Given the description of an element on the screen output the (x, y) to click on. 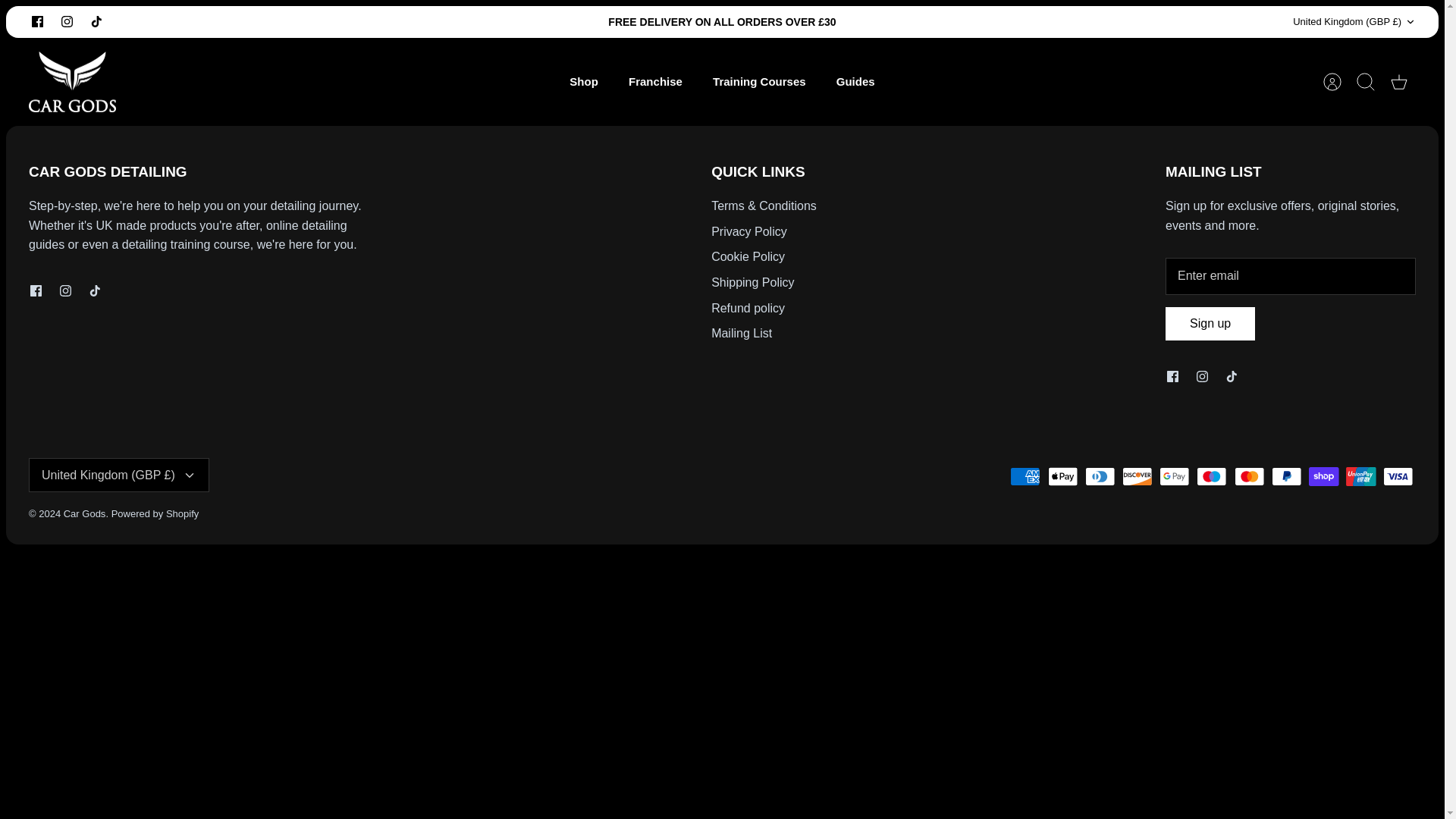
Mastercard (1249, 476)
American Express (1024, 476)
Shop (583, 81)
Car Gods (72, 82)
Google Pay (1173, 476)
Facebook (37, 21)
Facebook (36, 290)
Discover (1136, 476)
Maestro (1210, 476)
Facebook (37, 21)
Facebook (1172, 376)
Instagram (66, 21)
Apple Pay (1062, 476)
Instagram (66, 21)
